Given the description of an element on the screen output the (x, y) to click on. 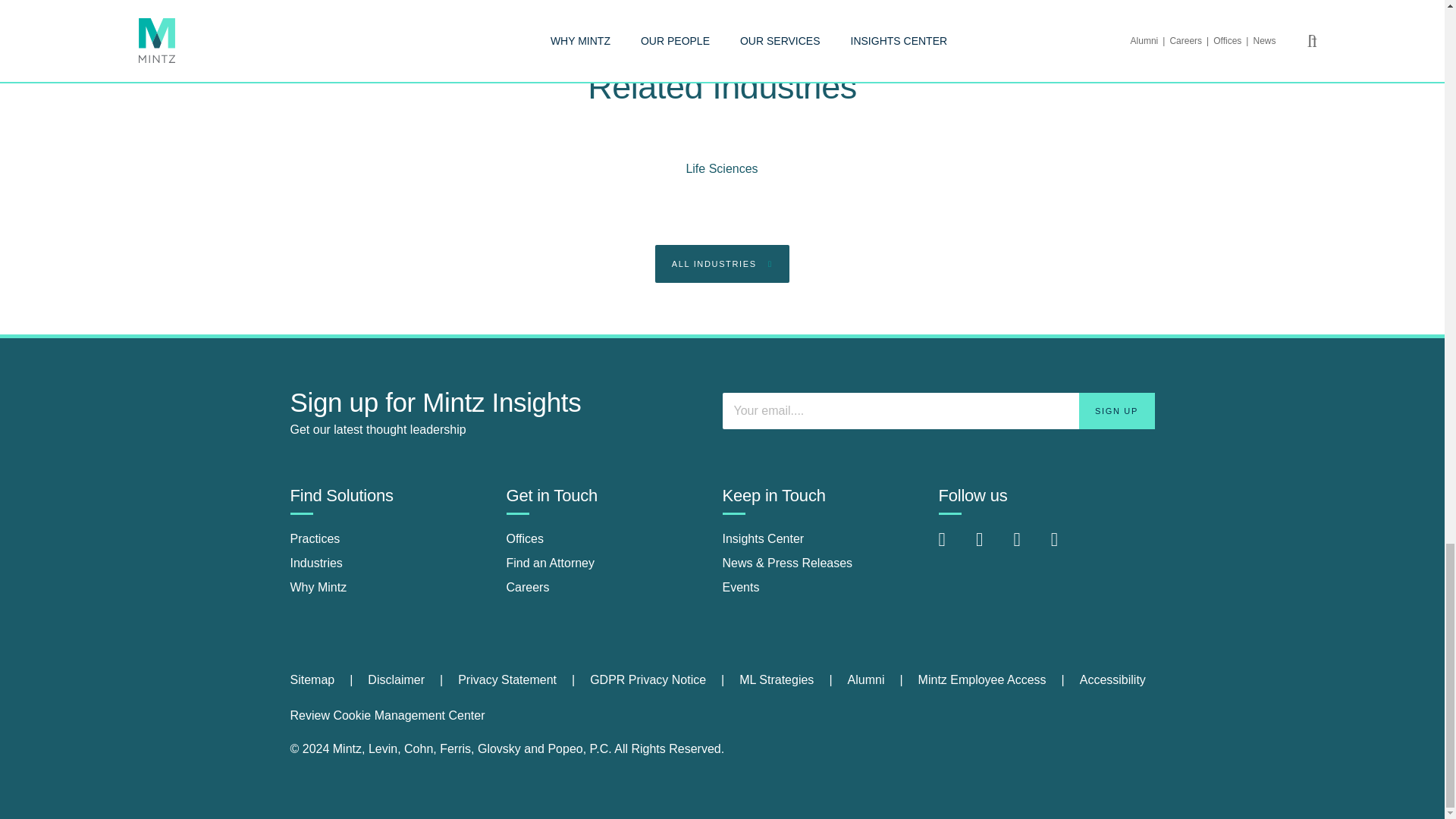
X (1028, 546)
Sign Up (1116, 411)
LinkedIn (954, 546)
Facebook (990, 546)
